Given the description of an element on the screen output the (x, y) to click on. 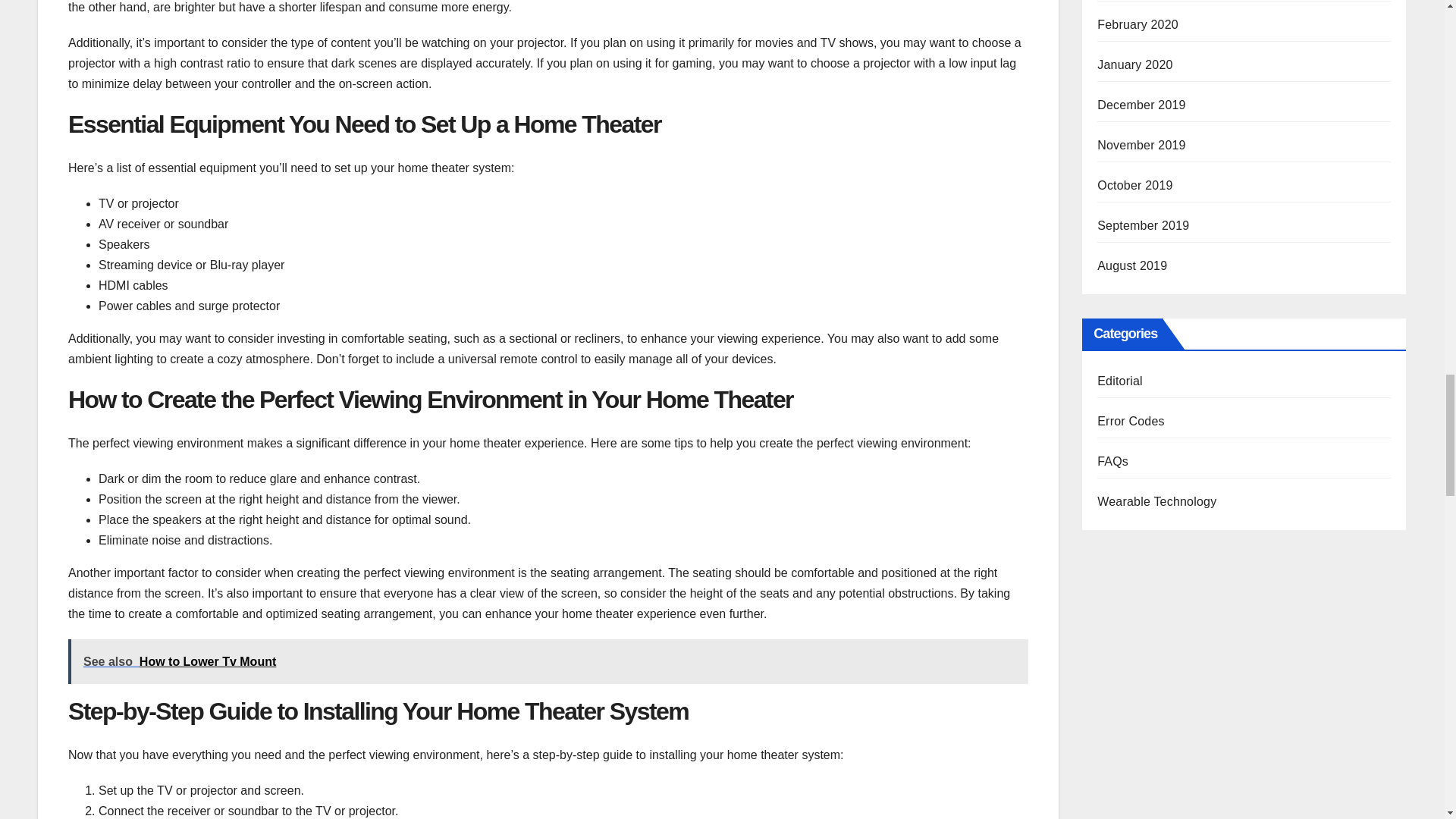
See also  How to Lower Tv Mount (547, 661)
